Given the description of an element on the screen output the (x, y) to click on. 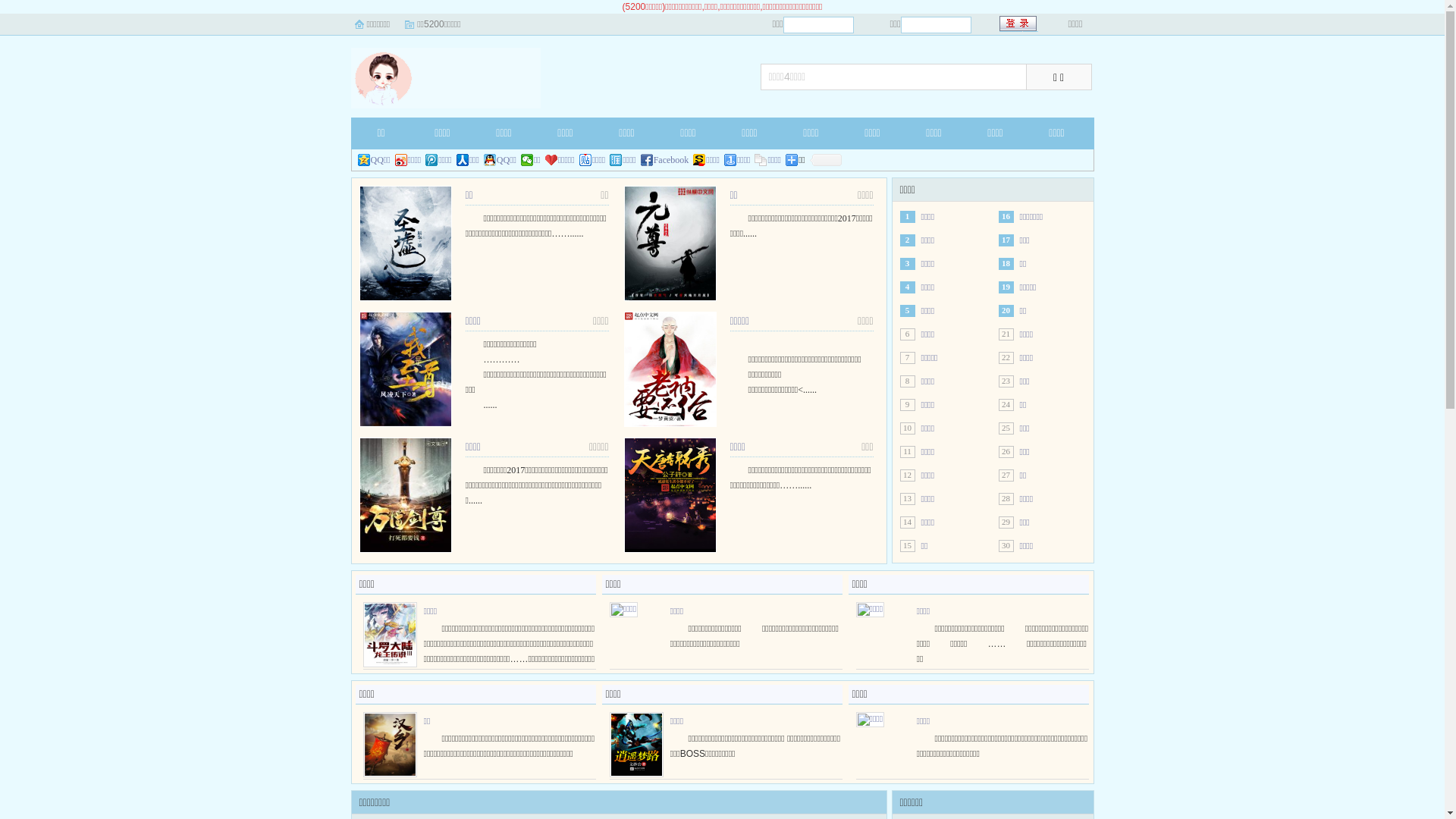
Facebook Element type: text (664, 159)
